Given the description of an element on the screen output the (x, y) to click on. 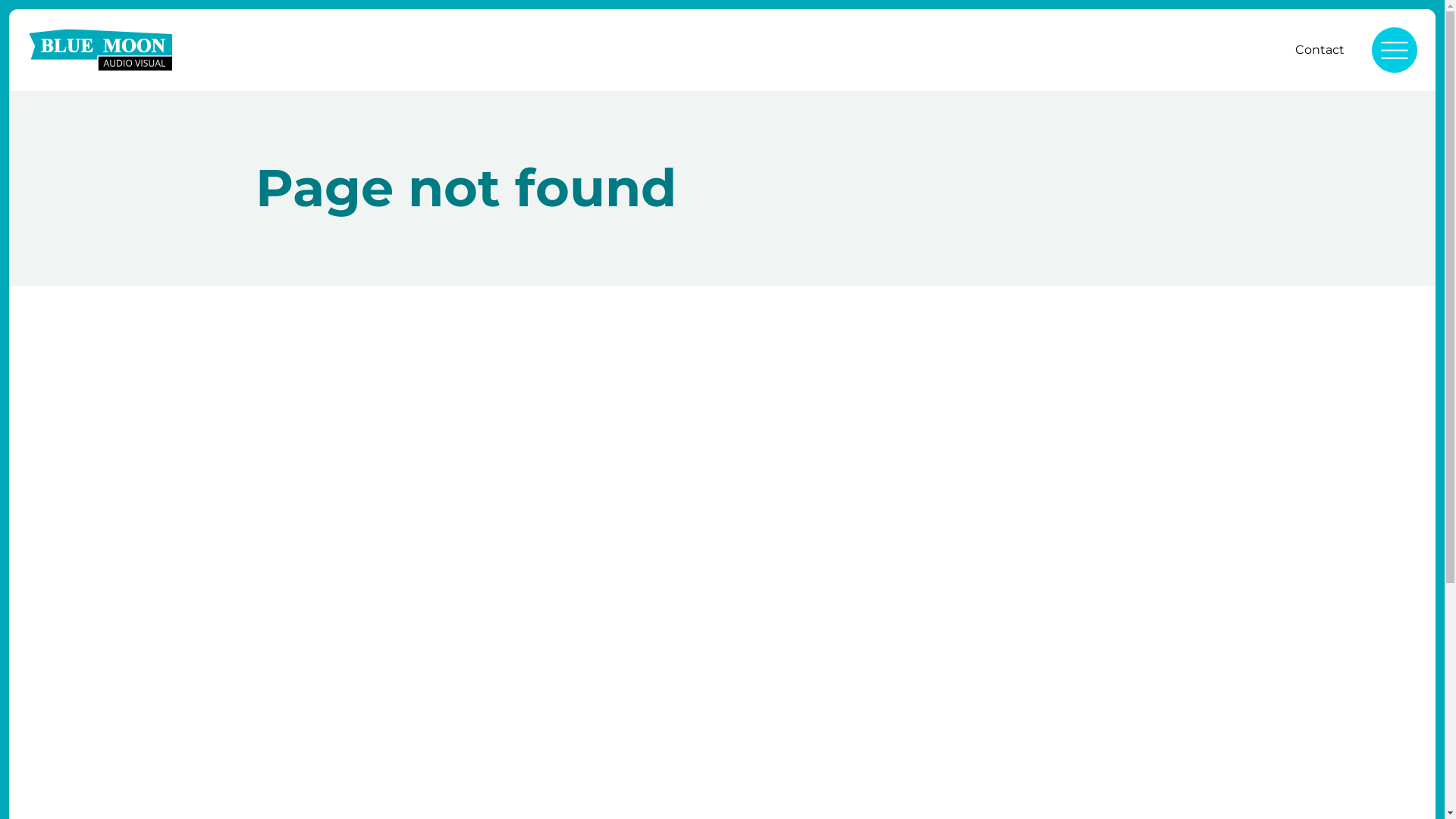
Contact Element type: text (1319, 49)
